Given the description of an element on the screen output the (x, y) to click on. 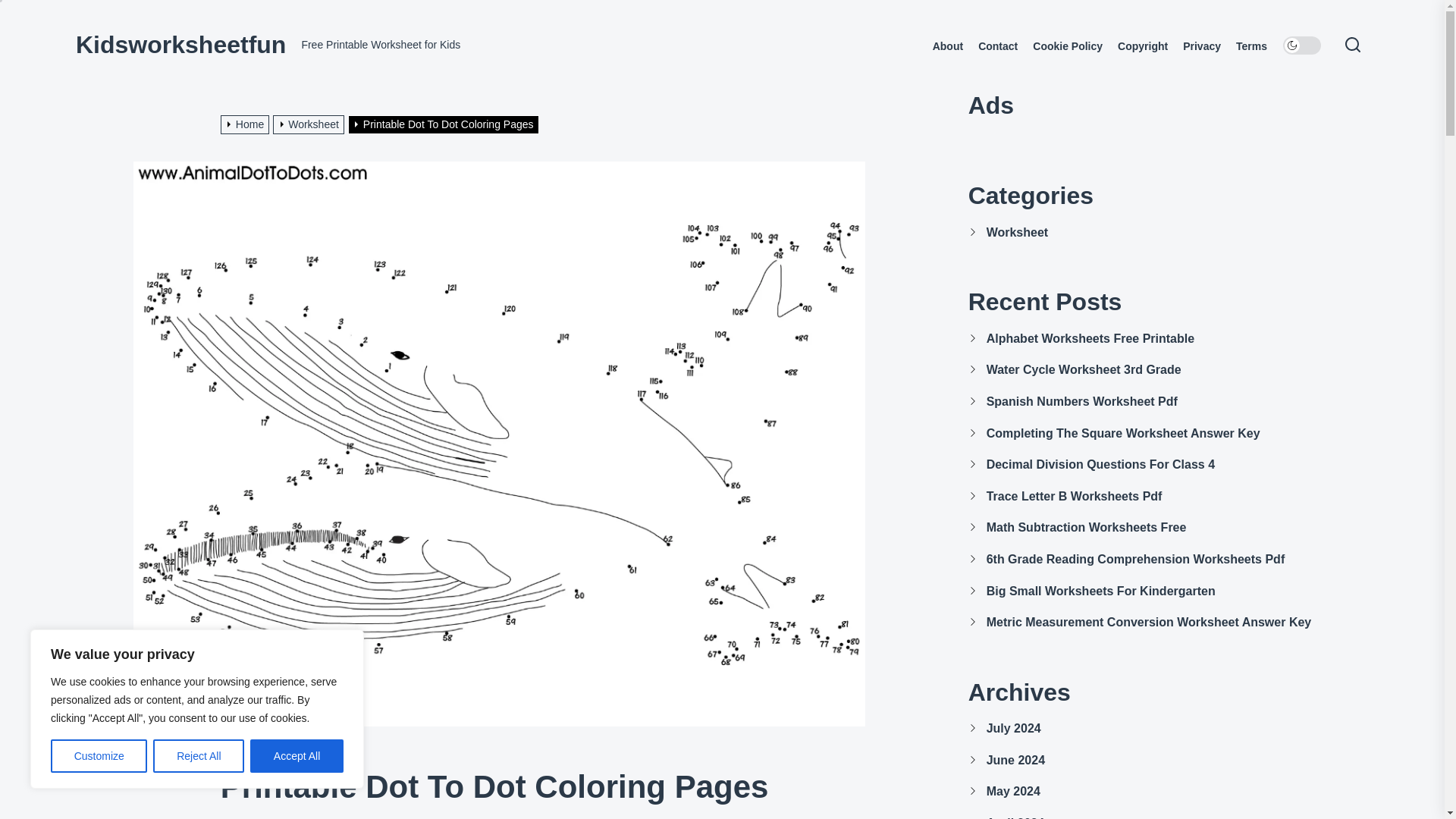
Kidsworksheetfun (180, 44)
Customize (98, 756)
Worksheet (310, 123)
Copyright (1142, 46)
Reject All (198, 756)
Cookie Policy (1067, 46)
About (947, 46)
Contact (997, 46)
Terms (1251, 46)
Accept All (296, 756)
Home (247, 123)
Printable Dot To Dot Coloring Pages (445, 123)
WORKSHEET (249, 758)
Privacy (1201, 46)
